Given the description of an element on the screen output the (x, y) to click on. 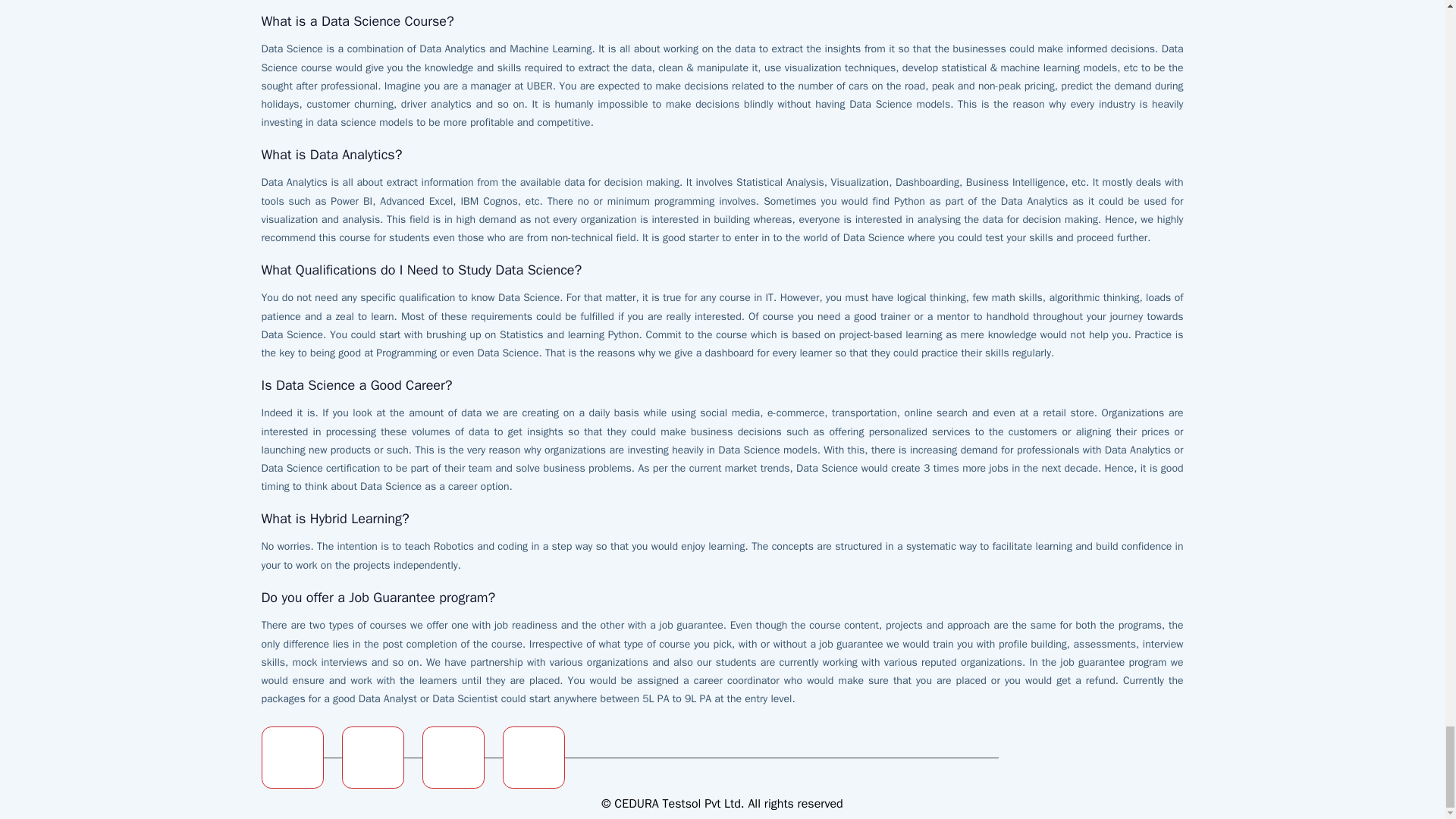
Link to SchoolForAI (373, 755)
